Given the description of an element on the screen output the (x, y) to click on. 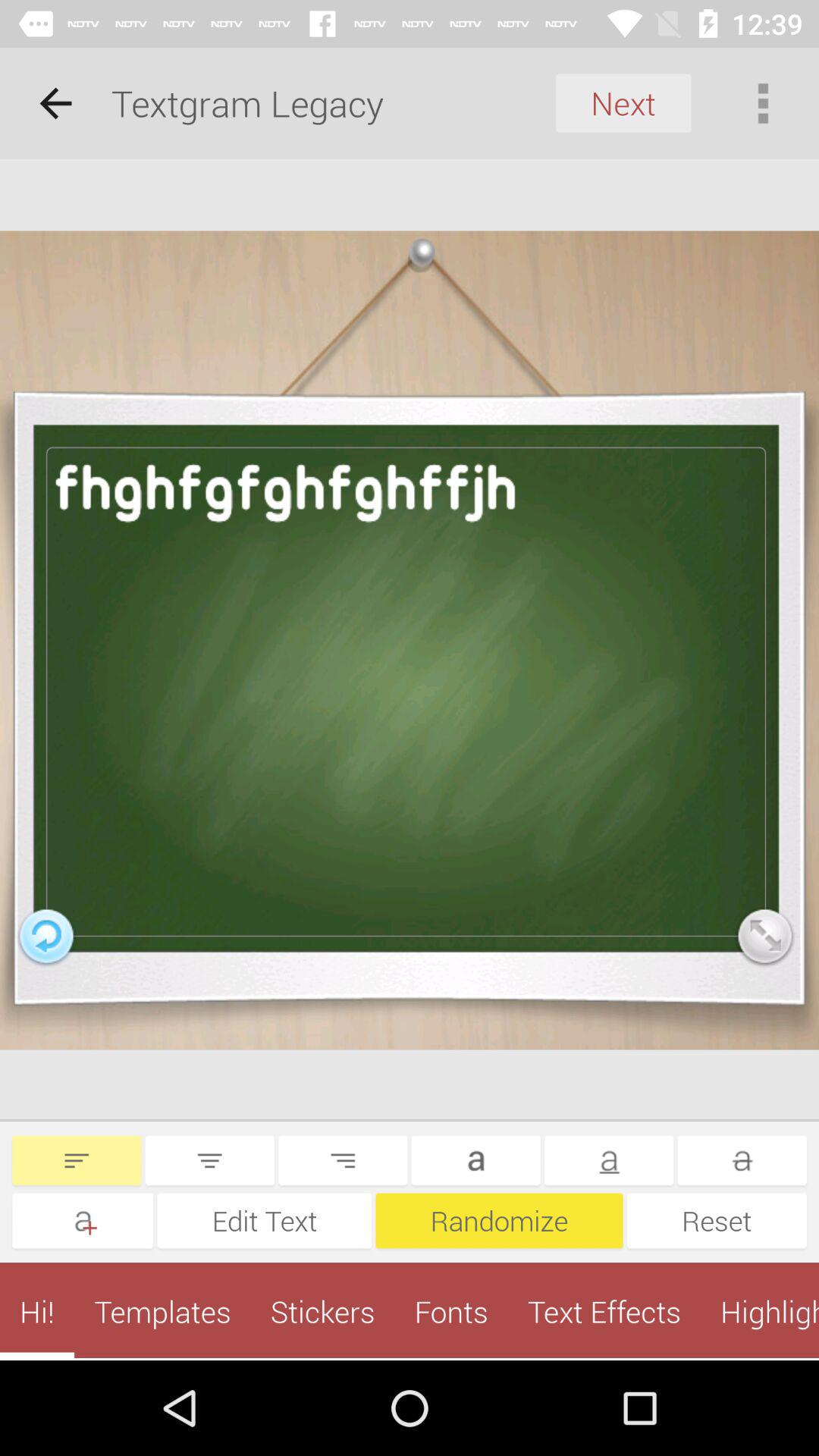
open the app to the left of the fonts (322, 1311)
